Given the description of an element on the screen output the (x, y) to click on. 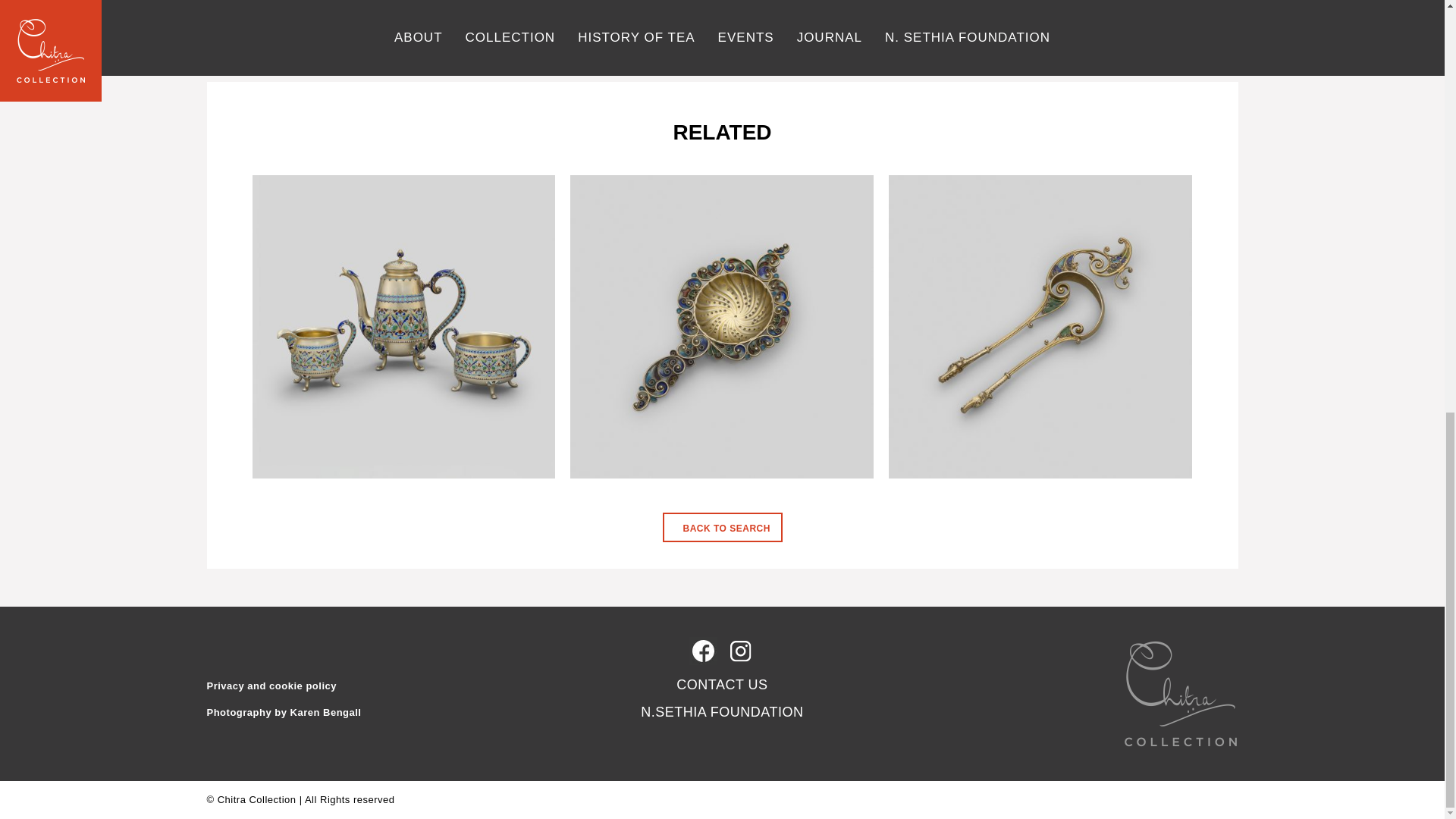
N.SETHIA FOUNDATION (721, 711)
BACK TO SEARCH (722, 527)
CONTACT US (722, 684)
Privacy and cookie policy (271, 685)
